Given the description of an element on the screen output the (x, y) to click on. 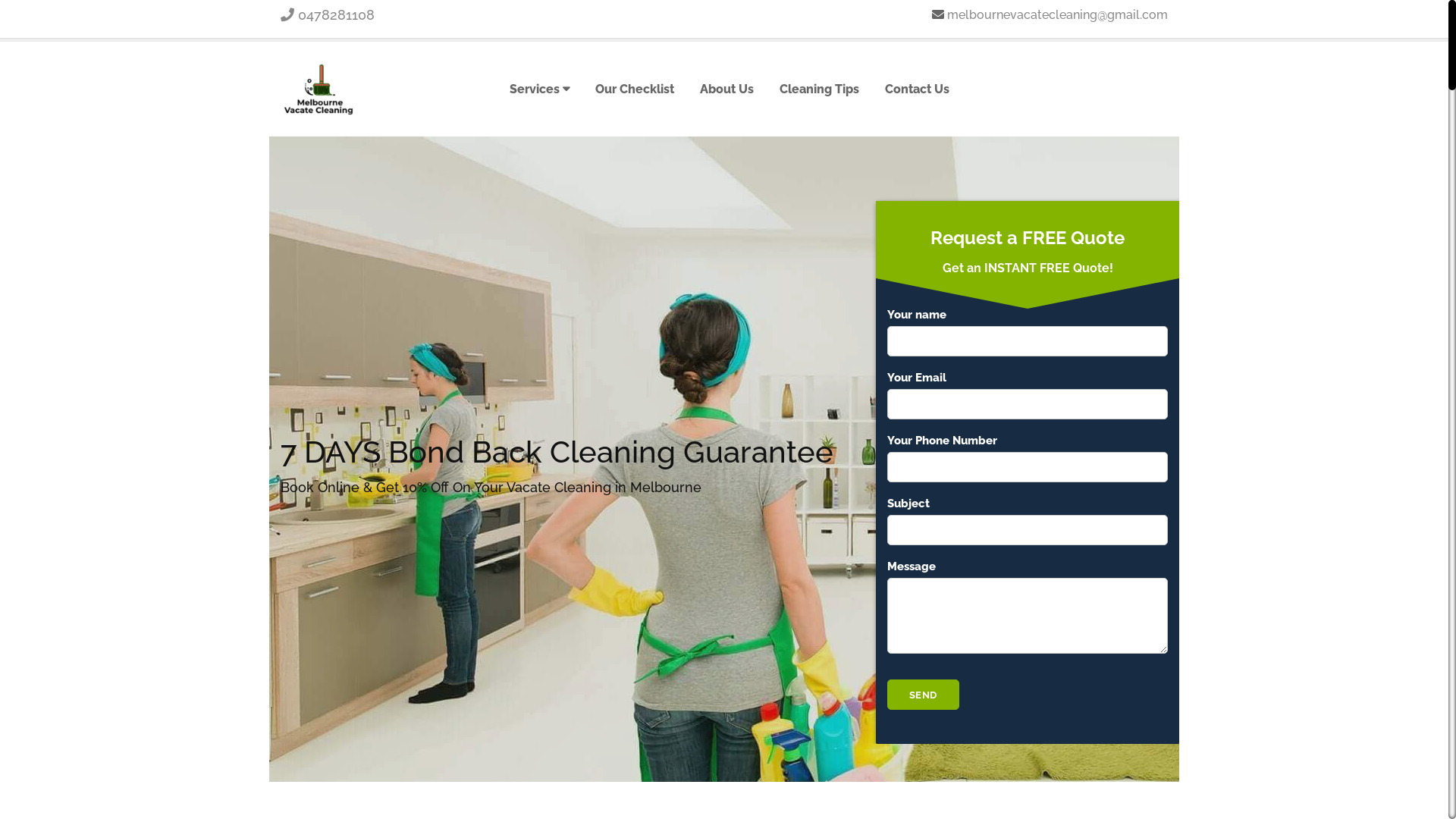
Contact Us Element type: text (916, 88)
Services Element type: text (539, 88)
melbournevacatecleaning@gmail.com Element type: text (1057, 14)
0478281108 Element type: text (327, 14)
Send Element type: text (923, 694)
Our Checklist Element type: text (634, 88)
Cleaning Tips Element type: text (819, 88)
About Us Element type: text (726, 88)
